Given the description of an element on the screen output the (x, y) to click on. 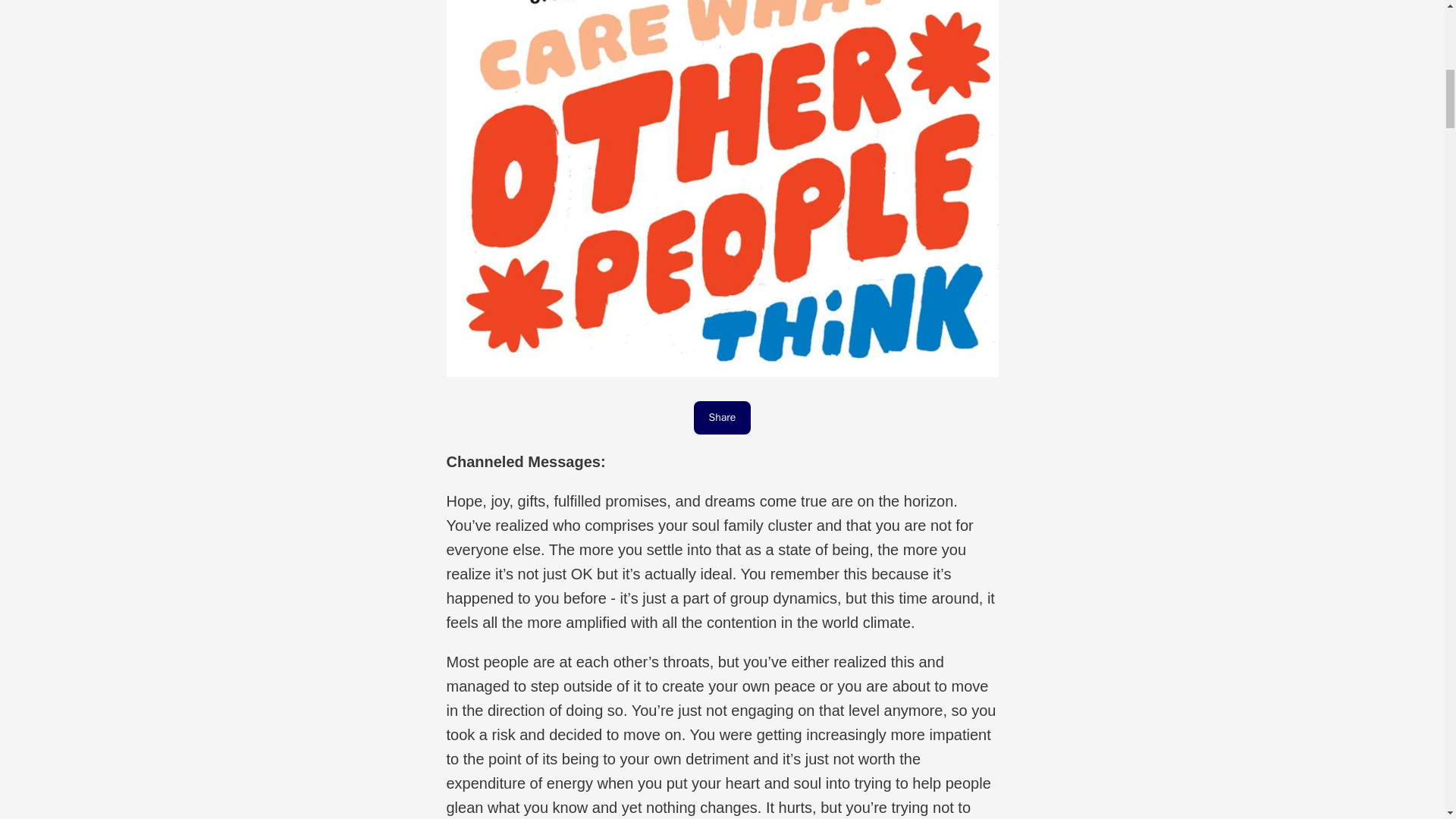
Share (722, 417)
